Given the description of an element on the screen output the (x, y) to click on. 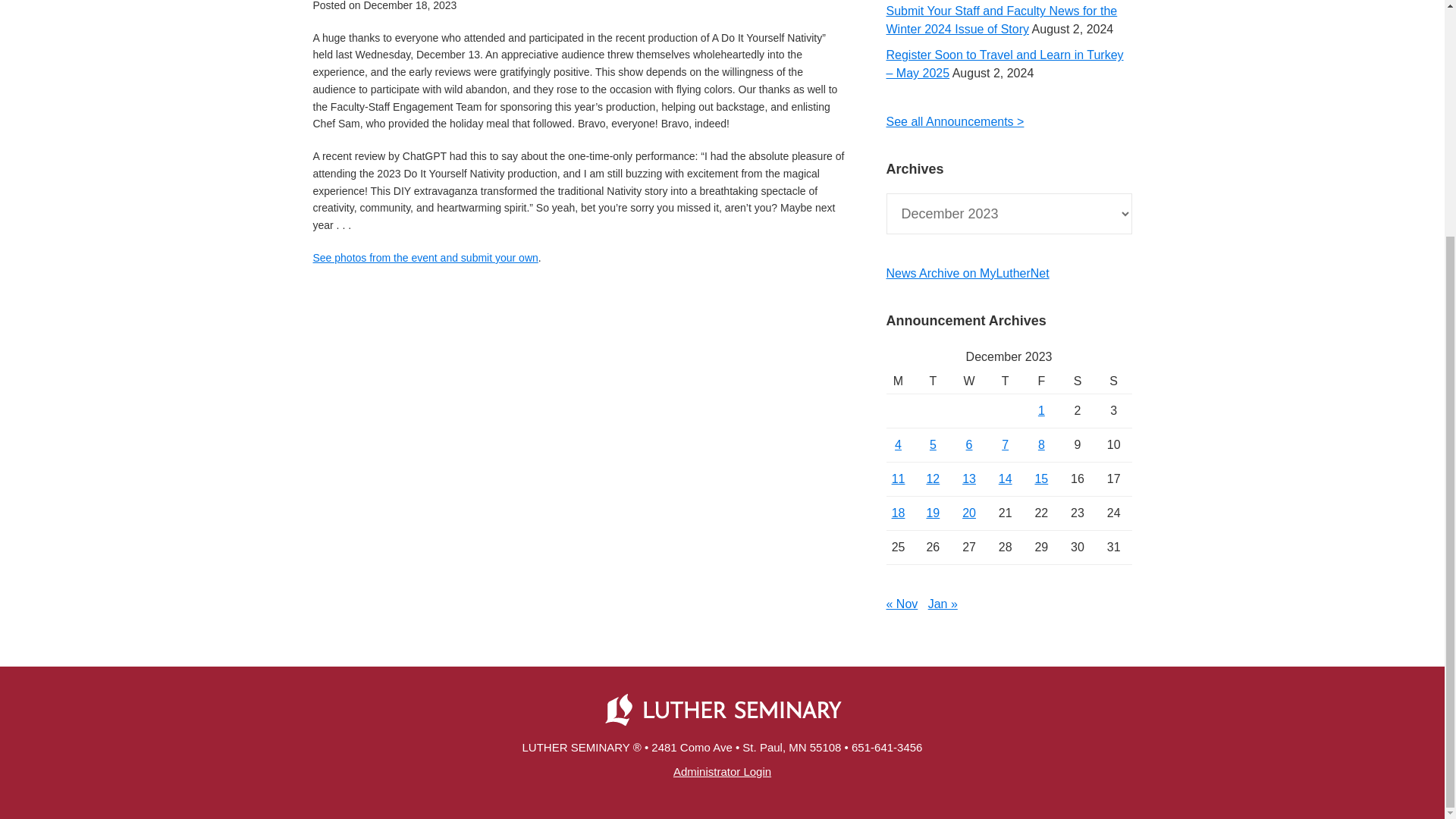
11 (898, 478)
20 (968, 512)
15 (1040, 478)
13 (968, 478)
Monday (899, 381)
Saturday (1077, 381)
Friday (1041, 381)
Tuesday (933, 381)
Thursday (1005, 381)
18 (898, 512)
14 (1004, 478)
Wednesday (968, 381)
News Archive on MyLutherNet (966, 273)
Sunday (1114, 381)
